Given the description of an element on the screen output the (x, y) to click on. 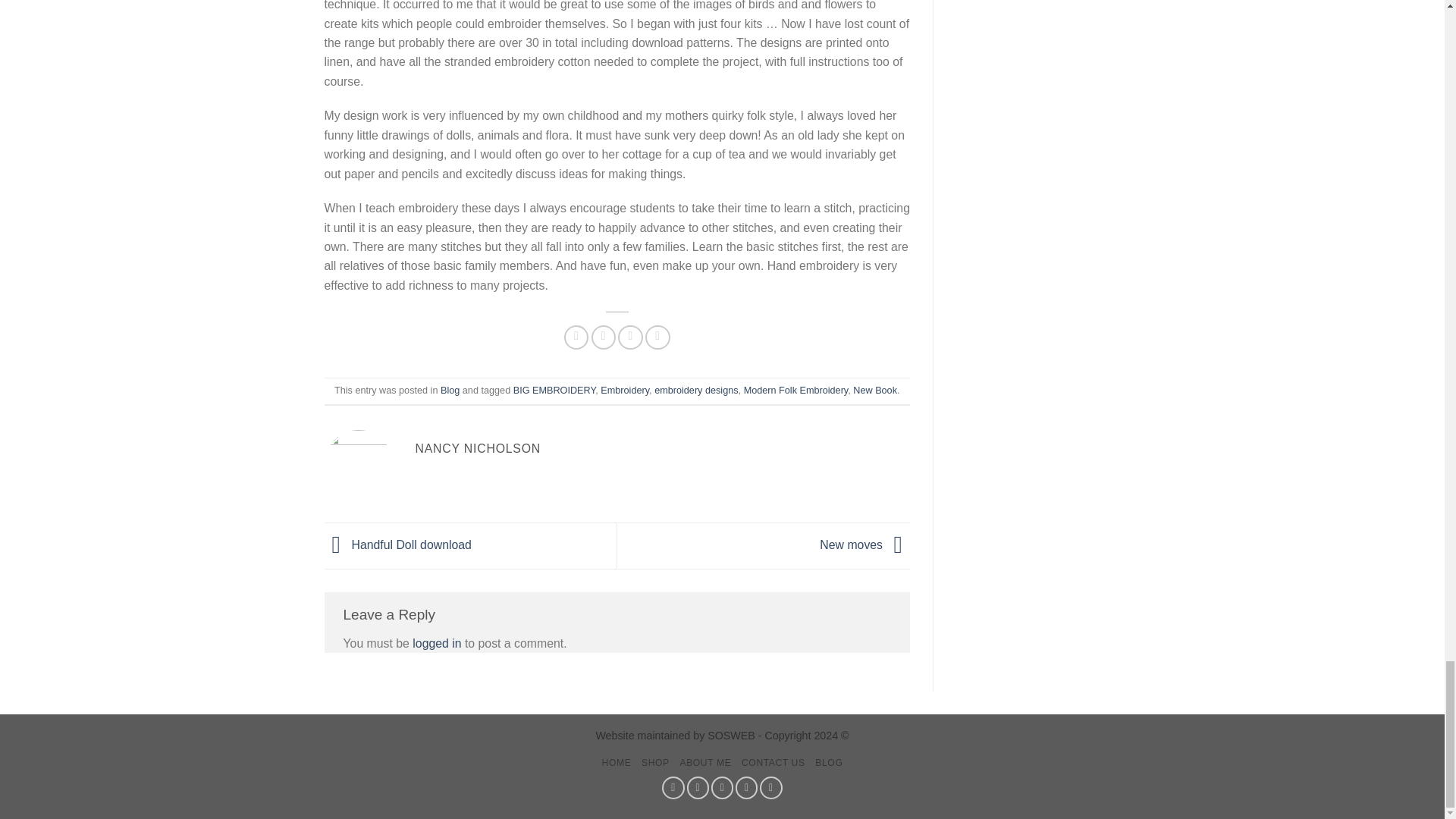
Blog (450, 389)
Share on Twitter (603, 337)
Email to a Friend (630, 337)
Follow on Instagram (698, 787)
BIG EMBROIDERY (554, 389)
Follow on Facebook (673, 787)
Share on Facebook (576, 337)
embroidery designs (695, 389)
Follow on Twitter (722, 787)
Modern Folk Embroidery (796, 389)
